Given the description of an element on the screen output the (x, y) to click on. 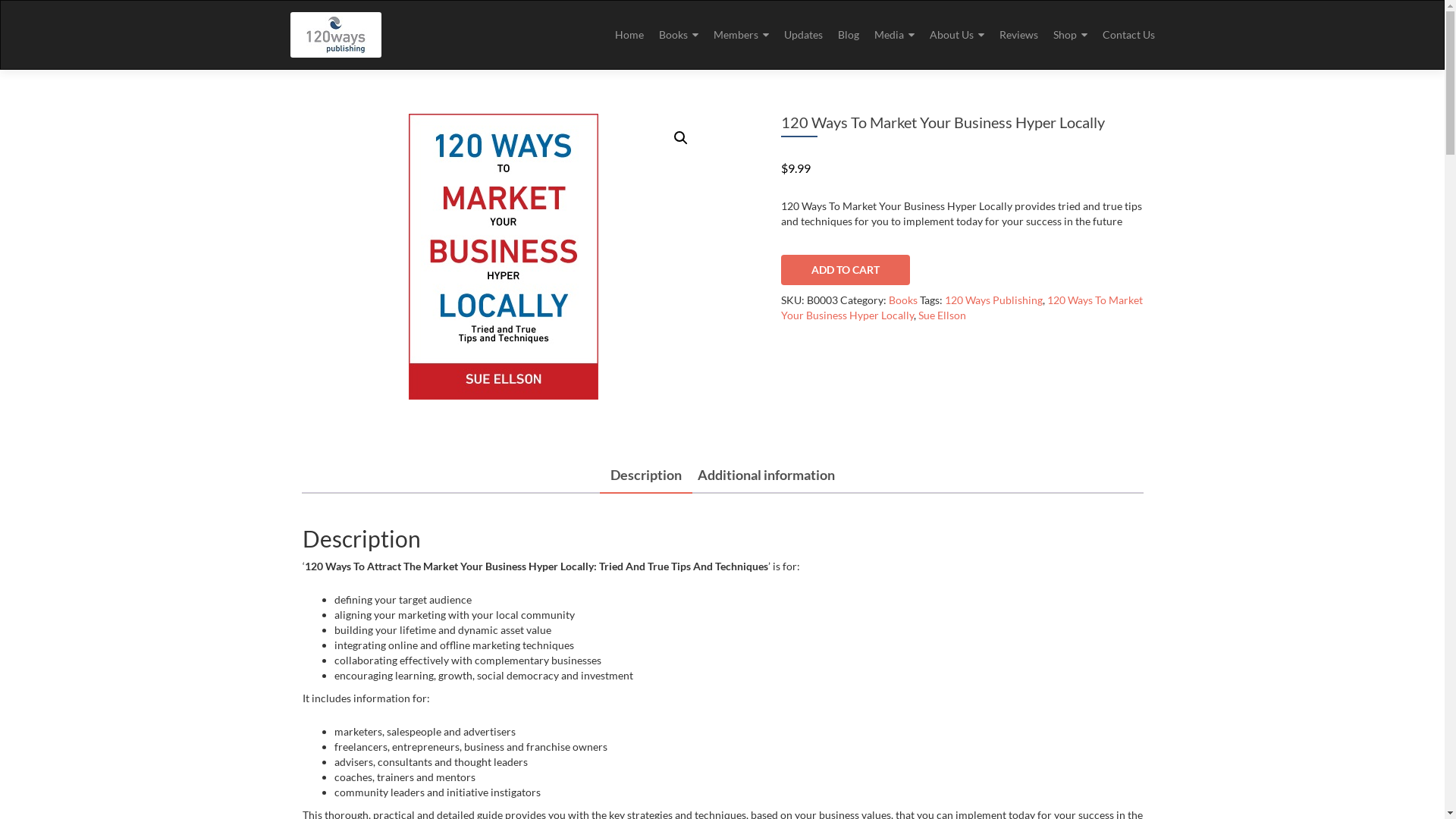
Media Element type: text (893, 34)
Sue Ellson Element type: text (942, 314)
Shop Element type: text (1069, 34)
Members Element type: text (740, 34)
Contact Us Element type: text (1128, 34)
Books Element type: text (902, 299)
Skip to content Element type: text (614, 0)
Books Element type: text (677, 34)
Home Element type: text (628, 34)
ADD TO CART Element type: text (845, 269)
Reviews Element type: text (1018, 34)
Description Element type: text (644, 475)
120 Ways Publishing Element type: text (993, 299)
About Us Element type: text (956, 34)
Updates Element type: text (803, 34)
Additional information Element type: text (765, 475)
Blog Element type: text (847, 34)
120 Ways To Market Your Business Hyper Locally Element type: text (961, 307)
120 Ways To Market Your Business Hyper Locally by Sue Ellson Element type: hover (503, 256)
